Given the description of an element on the screen output the (x, y) to click on. 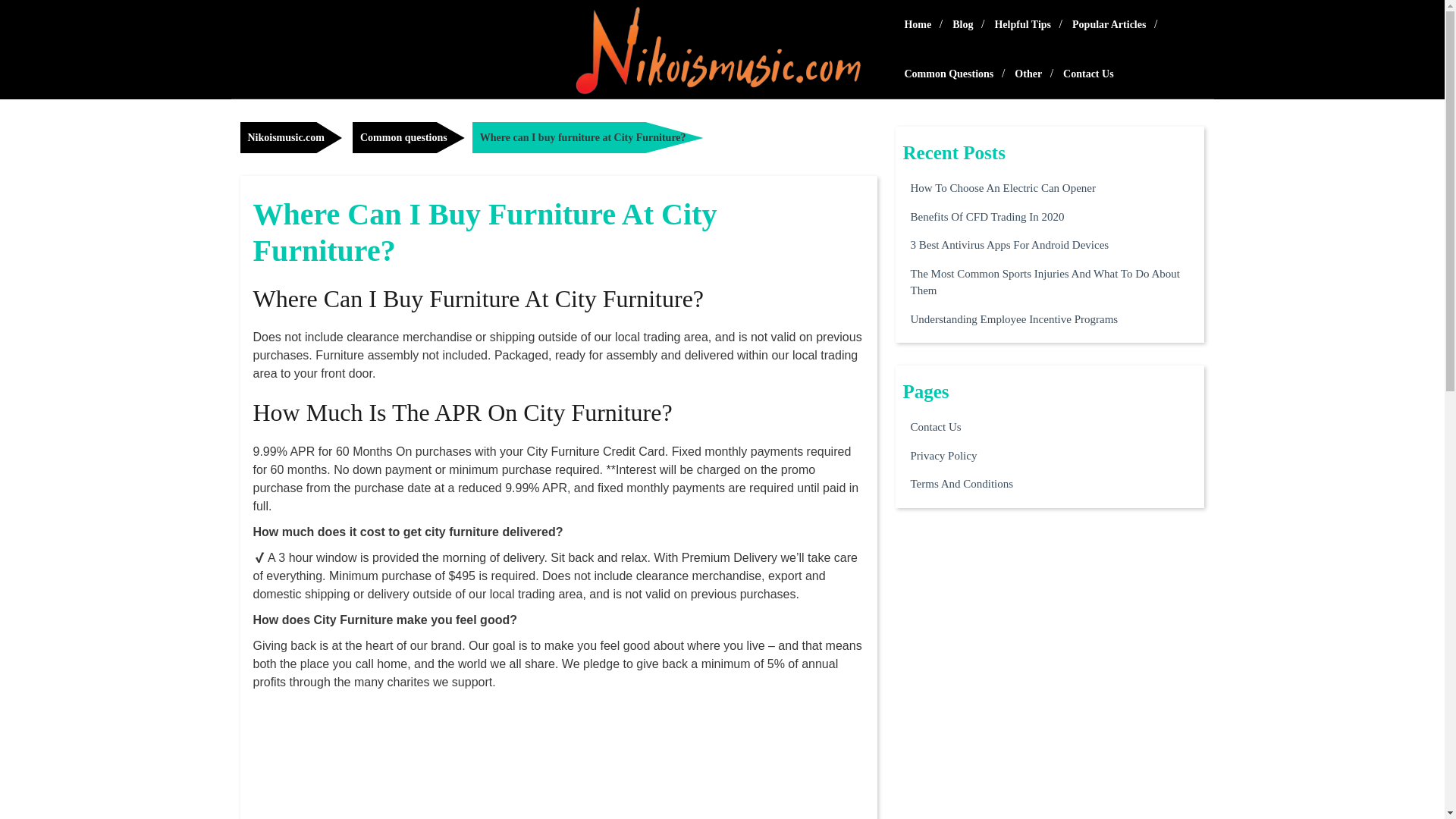
Common questions (408, 137)
Popular Articles (1108, 24)
Terms And Conditions (961, 483)
Other (1028, 73)
Benefits Of CFD Trading In 2020 (987, 217)
Contact Us (935, 426)
Common Questions (949, 73)
Blog (962, 24)
Helpful Tips (1022, 24)
Contact Us (1088, 73)
